Given the description of an element on the screen output the (x, y) to click on. 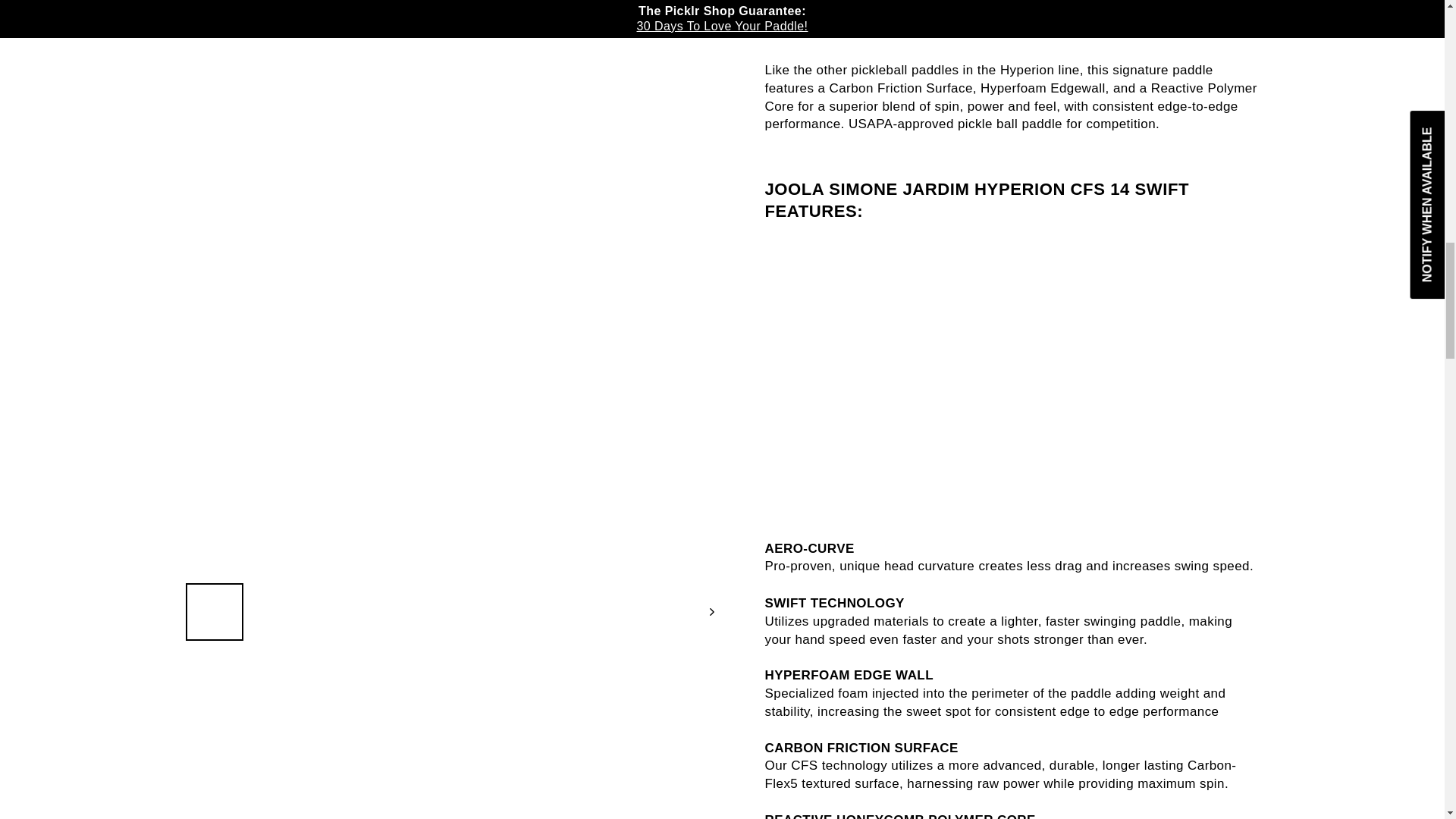
YouTube video player (1012, 21)
